Given the description of an element on the screen output the (x, y) to click on. 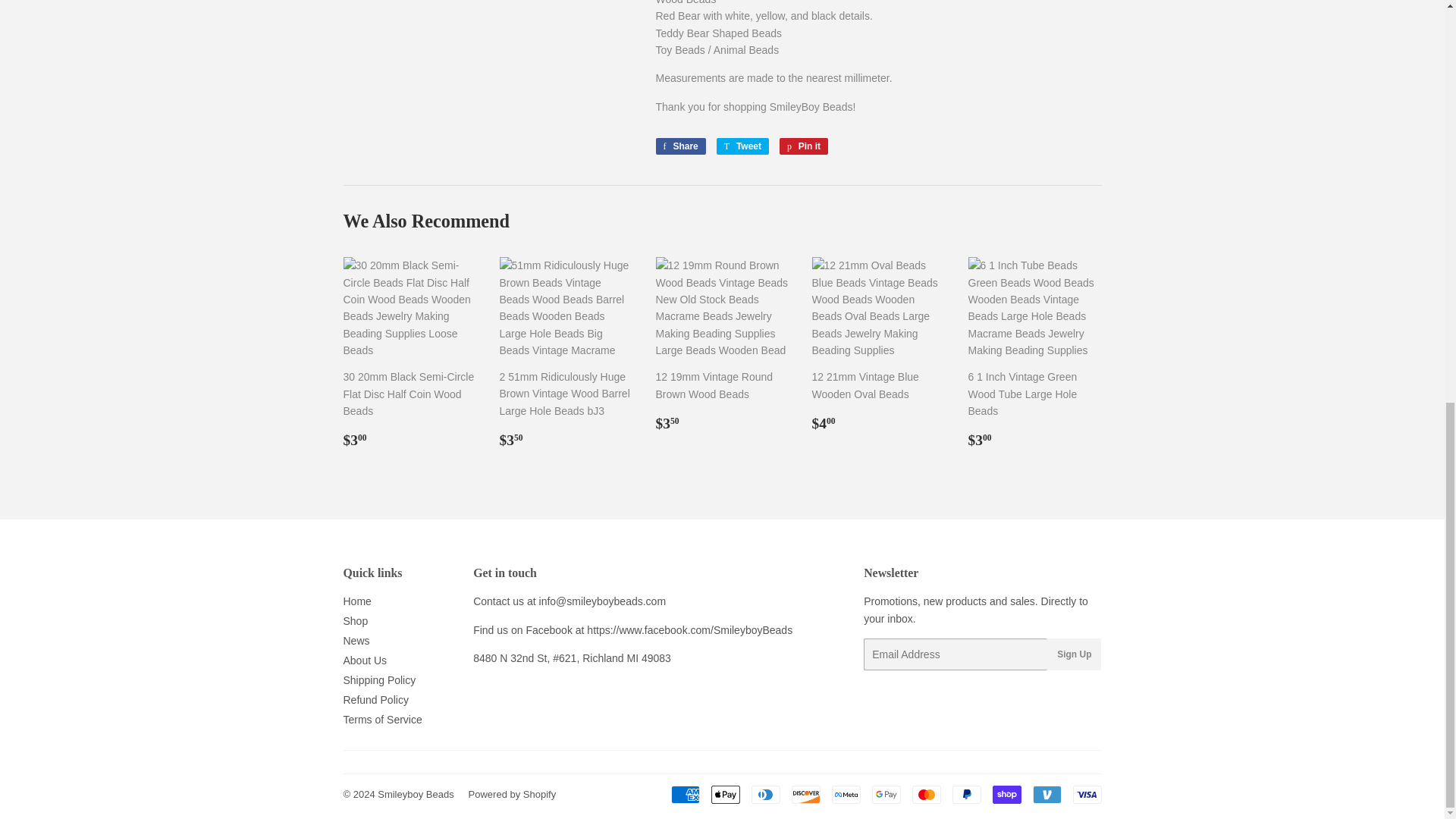
Mastercard (925, 794)
Google Pay (886, 794)
Venmo (1046, 794)
Diners Club (764, 794)
PayPal (966, 794)
Meta Pay (845, 794)
Visa (1085, 794)
Share on Facebook (679, 146)
Apple Pay (725, 794)
Shop Pay (1005, 794)
Tweet on Twitter (742, 146)
Pin on Pinterest (803, 146)
American Express (683, 794)
Discover (806, 794)
